Given the description of an element on the screen output the (x, y) to click on. 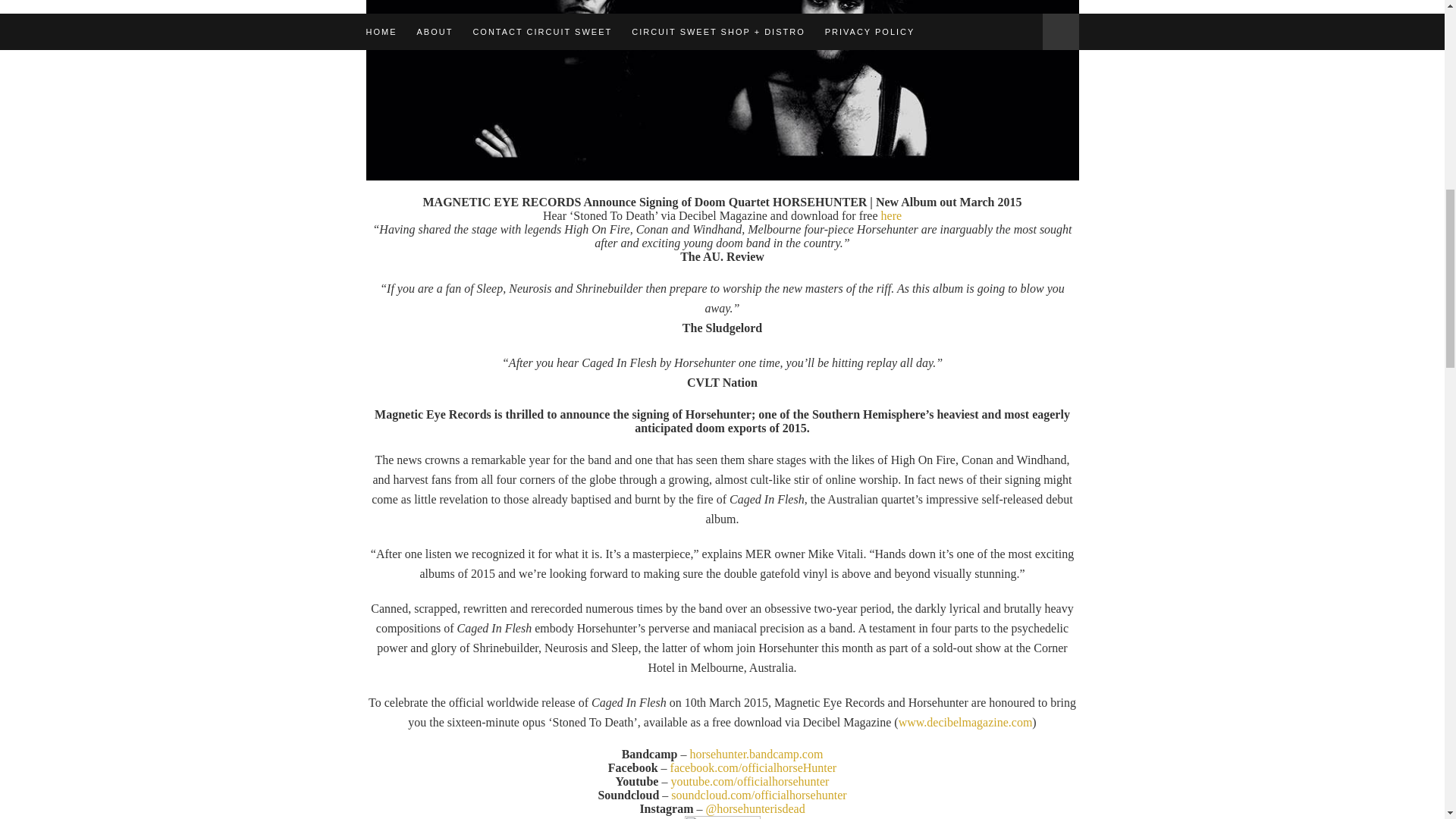
www.decibelmagazine.com (965, 721)
horsehunter.bandcamp.com (755, 753)
horsehunterisdead (760, 808)
here (891, 215)
